Given the description of an element on the screen output the (x, y) to click on. 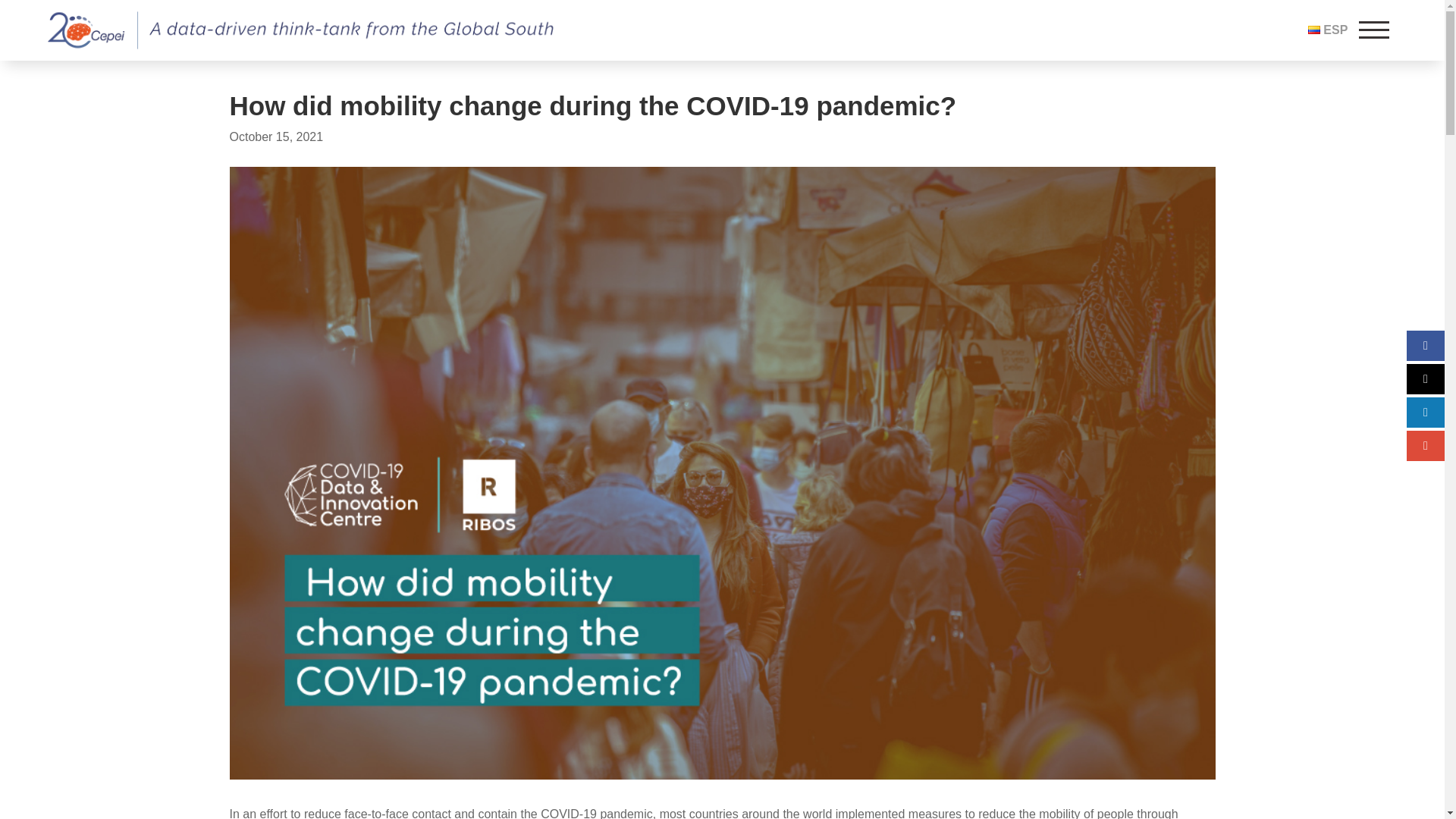
Search (426, 176)
ESP (1327, 29)
